Given the description of an element on the screen output the (x, y) to click on. 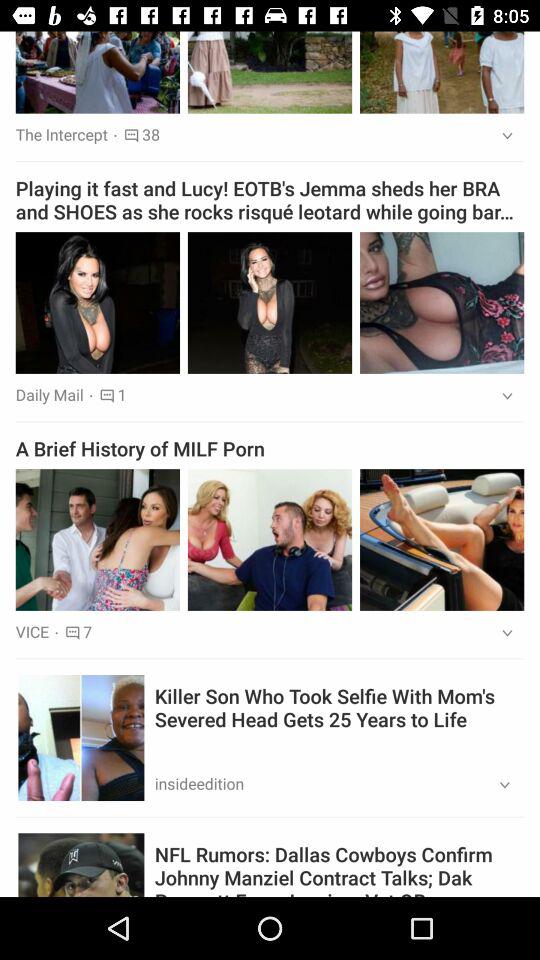
press the app above the playing it fast (500, 136)
